Given the description of an element on the screen output the (x, y) to click on. 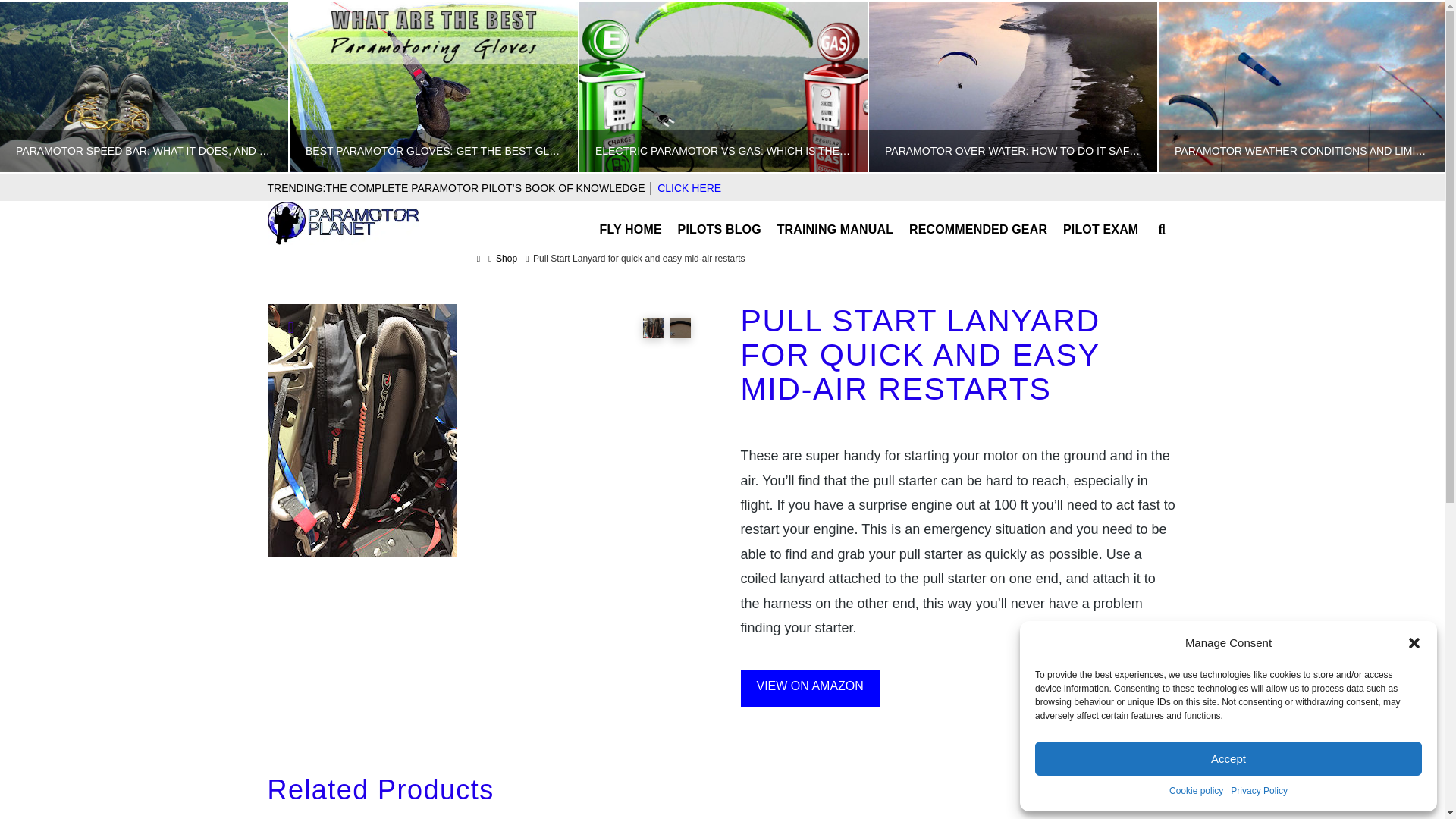
PILOT EXAM (1101, 219)
TRAINING MANUAL (835, 219)
ELECTRIC PARAMOTOR VS GAS: WHICH IS THE BEST FOR YOU? (722, 86)
Accept (1228, 758)
Cookie policy (1196, 791)
RECOMMENDED GEAR (978, 219)
FLY HOME (630, 219)
You Are Here (638, 258)
PILOTS BLOG (719, 219)
BEST PARAMOTOR GLOVES: GET THE BEST GLOVES FOR ALL SEASONS (433, 86)
